Given the description of an element on the screen output the (x, y) to click on. 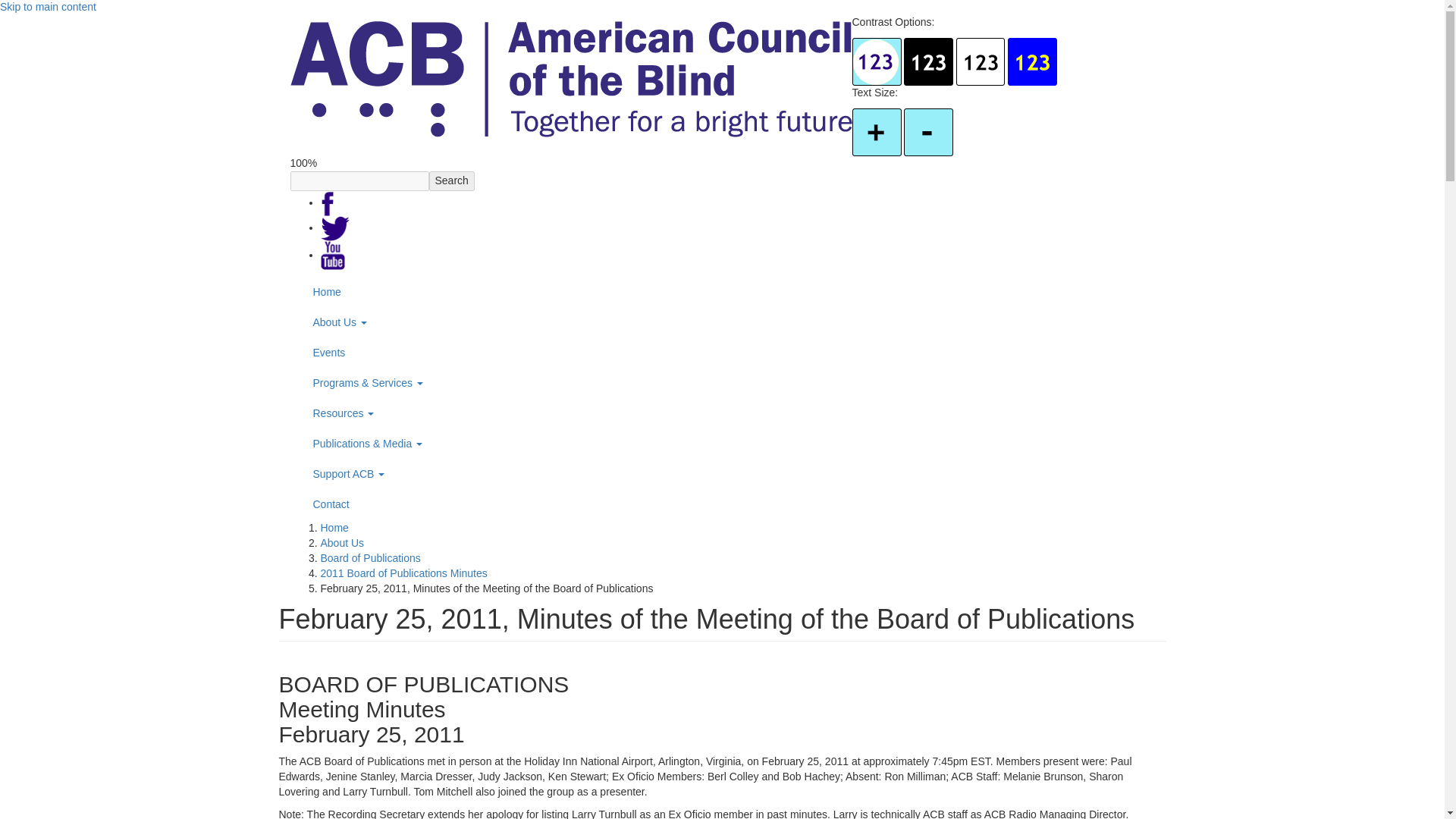
Events (721, 353)
Search (451, 180)
Resources (721, 413)
Home (721, 292)
Search (451, 180)
Skip to main content (48, 6)
Home (721, 292)
About Us (721, 322)
Home (570, 79)
Search (451, 180)
